Given the description of an element on the screen output the (x, y) to click on. 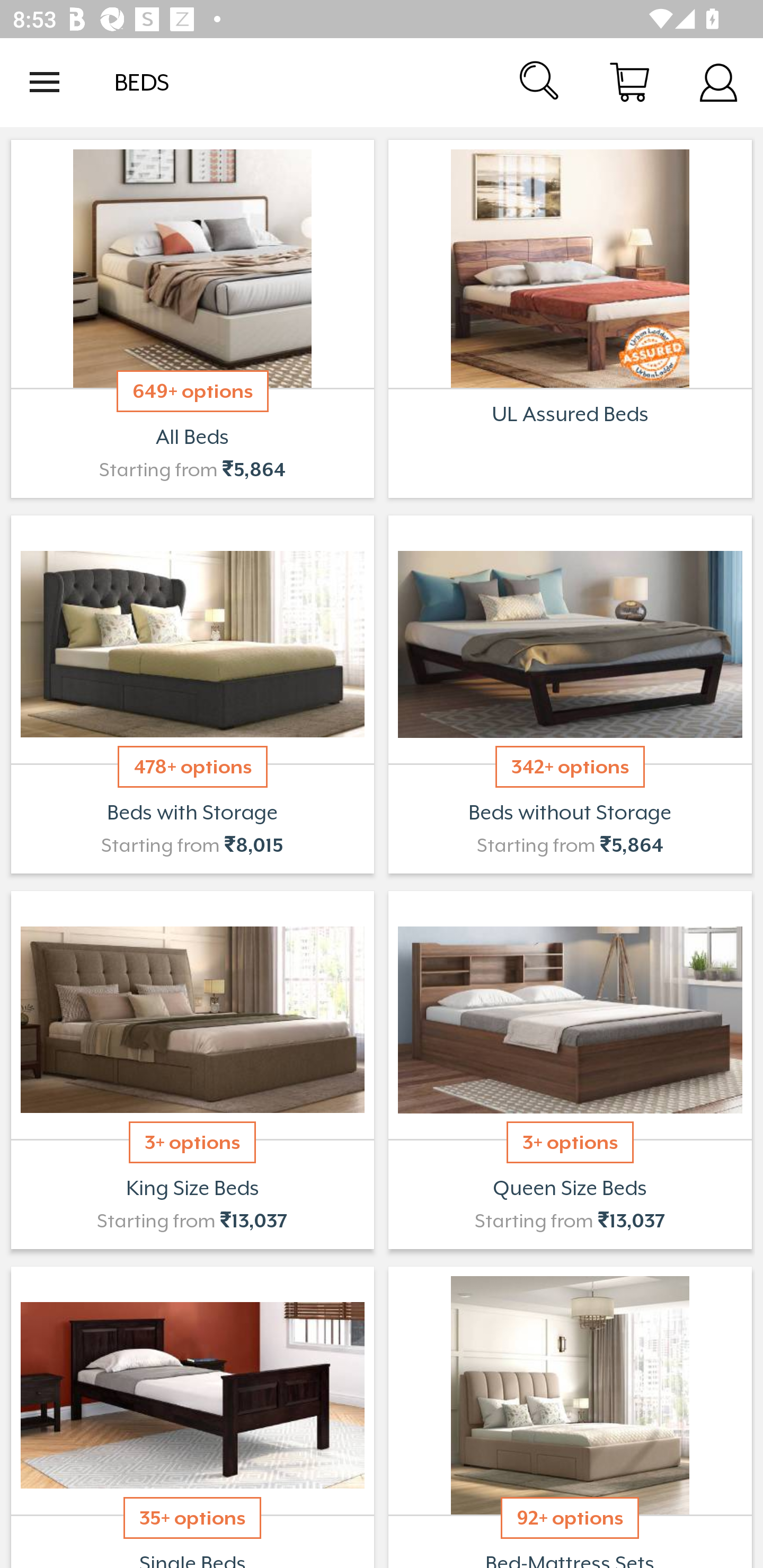
Open navigation drawer (44, 82)
Search (540, 81)
Cart (629, 81)
Account Details (718, 81)
649+ options All Beds Starting from  ₹5,864 (191, 318)
UL Assured Beds (570, 318)
3+ options King Size Beds Starting from  ₹13,037 (191, 1069)
3+ options Queen Size Beds Starting from  ₹13,037 (570, 1069)
35+ options Single Beds (191, 1415)
92+ options Bed-Mattress Sets (570, 1415)
